Given the description of an element on the screen output the (x, y) to click on. 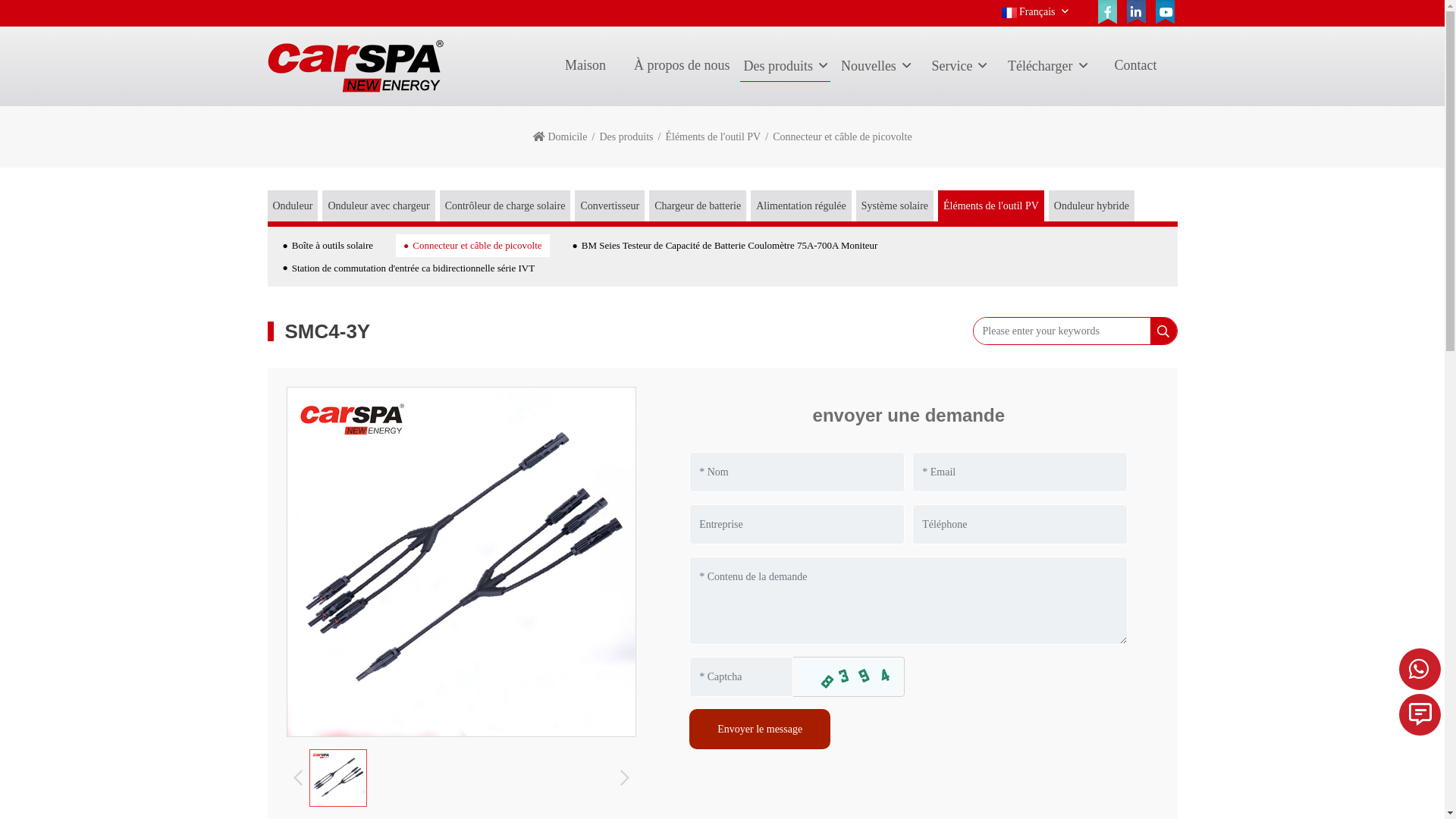
Onduleur avec chargeur Element type: text (378, 205)
Contact Element type: text (1135, 65)
Des produits Element type: text (785, 66)
Chargeur de batterie Element type: text (697, 205)
Des produits Element type: text (625, 136)
Maison Element type: text (585, 65)
Service Element type: text (959, 66)
Envoyer le message Element type: text (759, 729)
Onduleur Element type: text (291, 205)
Nouvelles Element type: text (875, 66)
Onduleur hybride Element type: text (1091, 205)
Convertisseur Element type: text (609, 205)
Domicile Element type: text (566, 136)
